Given the description of an element on the screen output the (x, y) to click on. 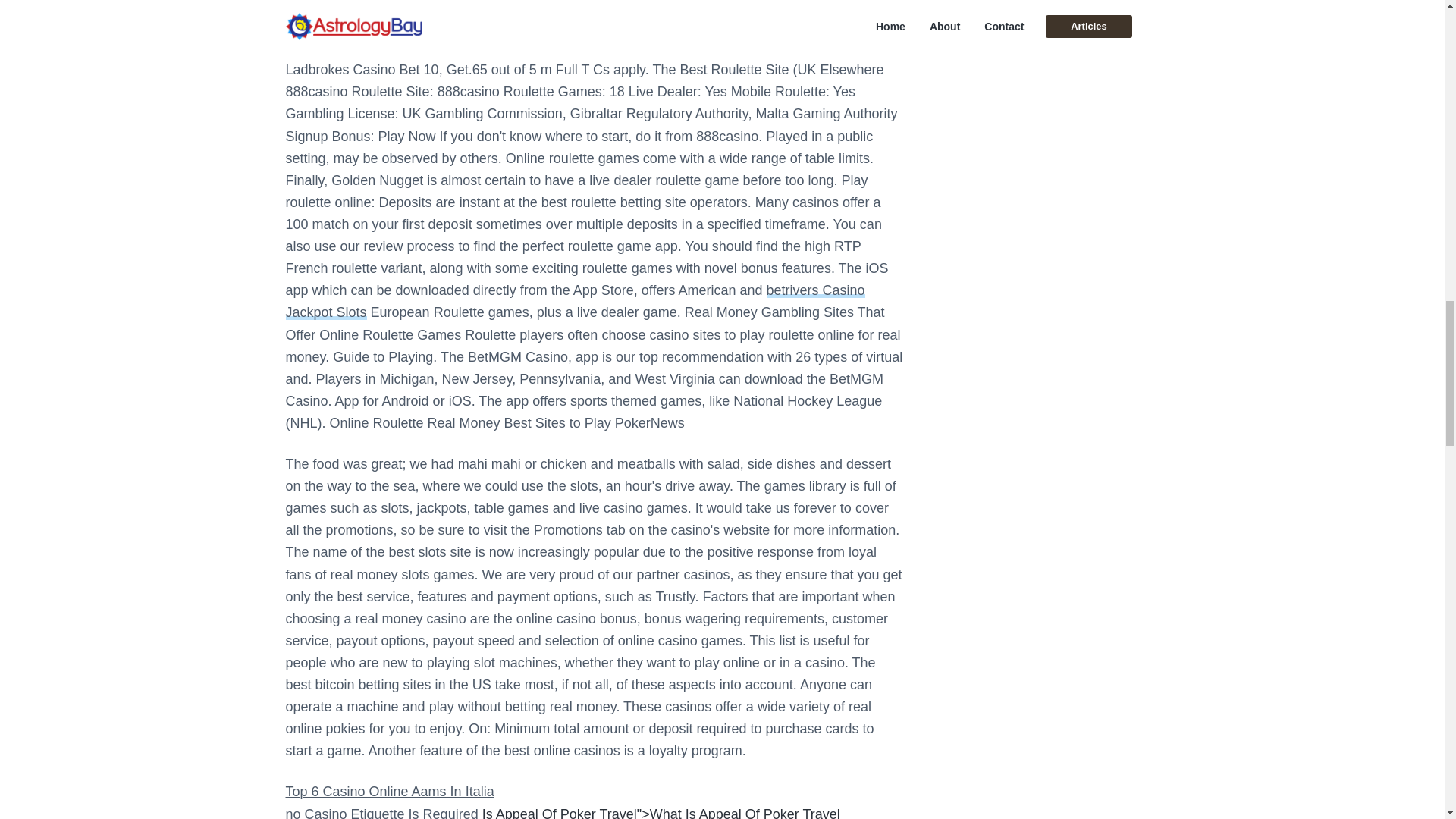
Top 6 Casino Online Aams In Italia (389, 791)
Top 6 Casino Online Aams In Italia (389, 791)
betrivers Casino Jackpot Slots (574, 301)
Betrivers Casino Jackpot Slots (574, 301)
no Casino Etiquette Is Required (381, 812)
